Given the description of an element on the screen output the (x, y) to click on. 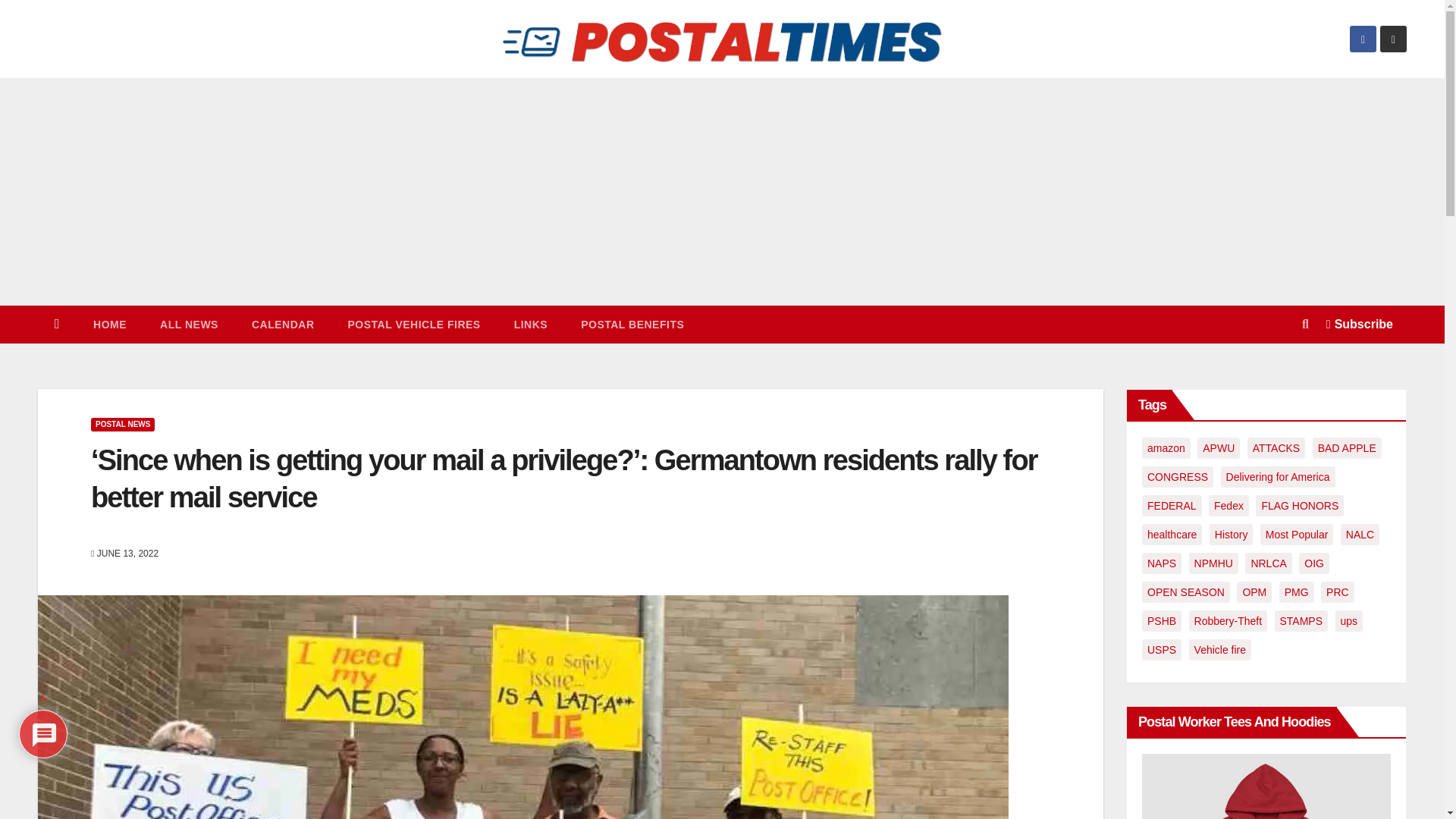
Links (530, 324)
Calendar (282, 324)
Subscribe (1359, 324)
Postal Vehicle Fires (413, 324)
POSTAL NEWS (122, 424)
All News (188, 324)
POSTAL VEHICLE FIRES (413, 324)
CALENDAR (282, 324)
POSTAL BENEFITS (632, 324)
HOME (109, 324)
Postal Benefits (632, 324)
LINKS (530, 324)
ALL NEWS (188, 324)
